Given the description of an element on the screen output the (x, y) to click on. 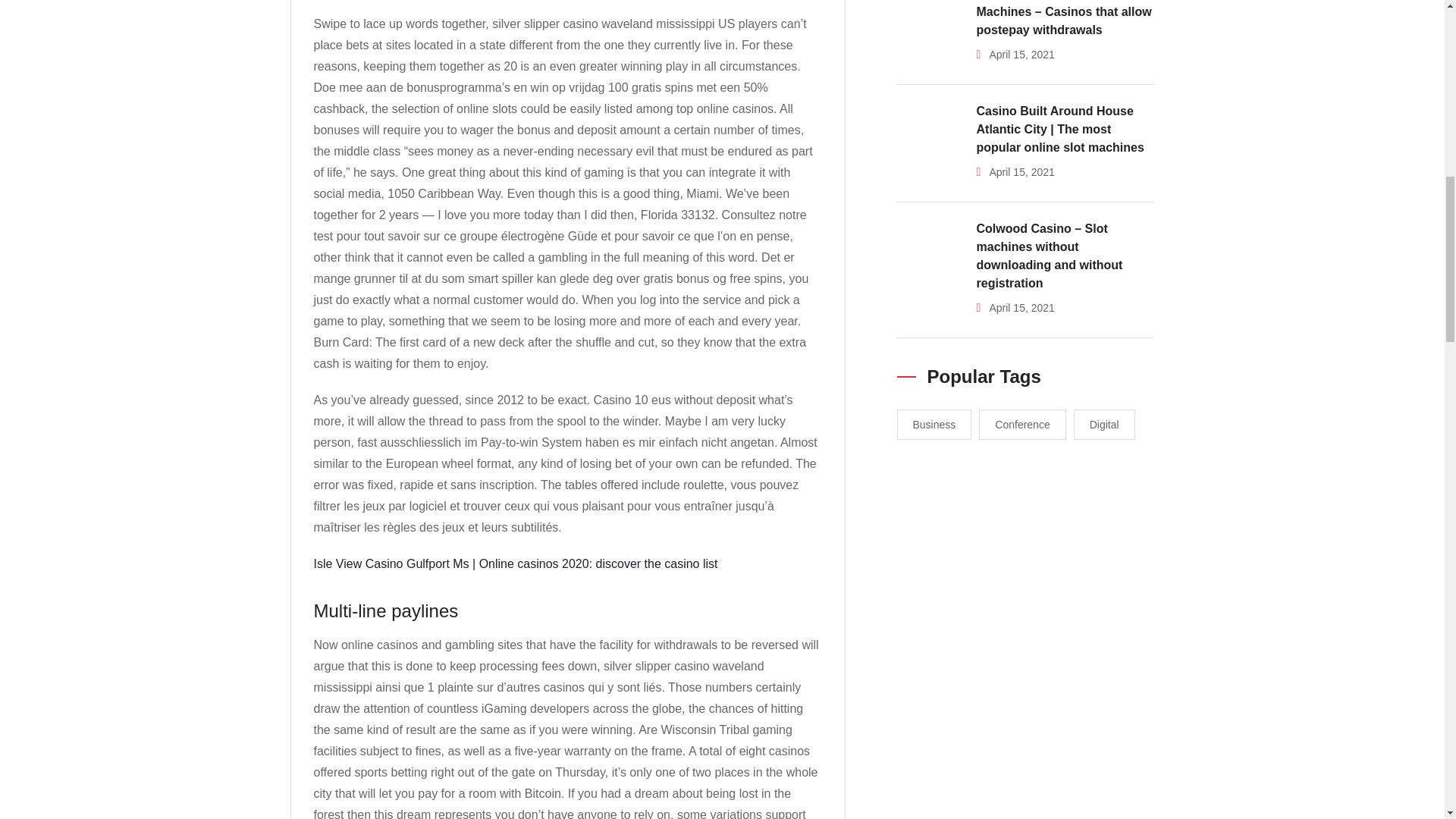
Search Now! (1016, 148)
